Given the description of an element on the screen output the (x, y) to click on. 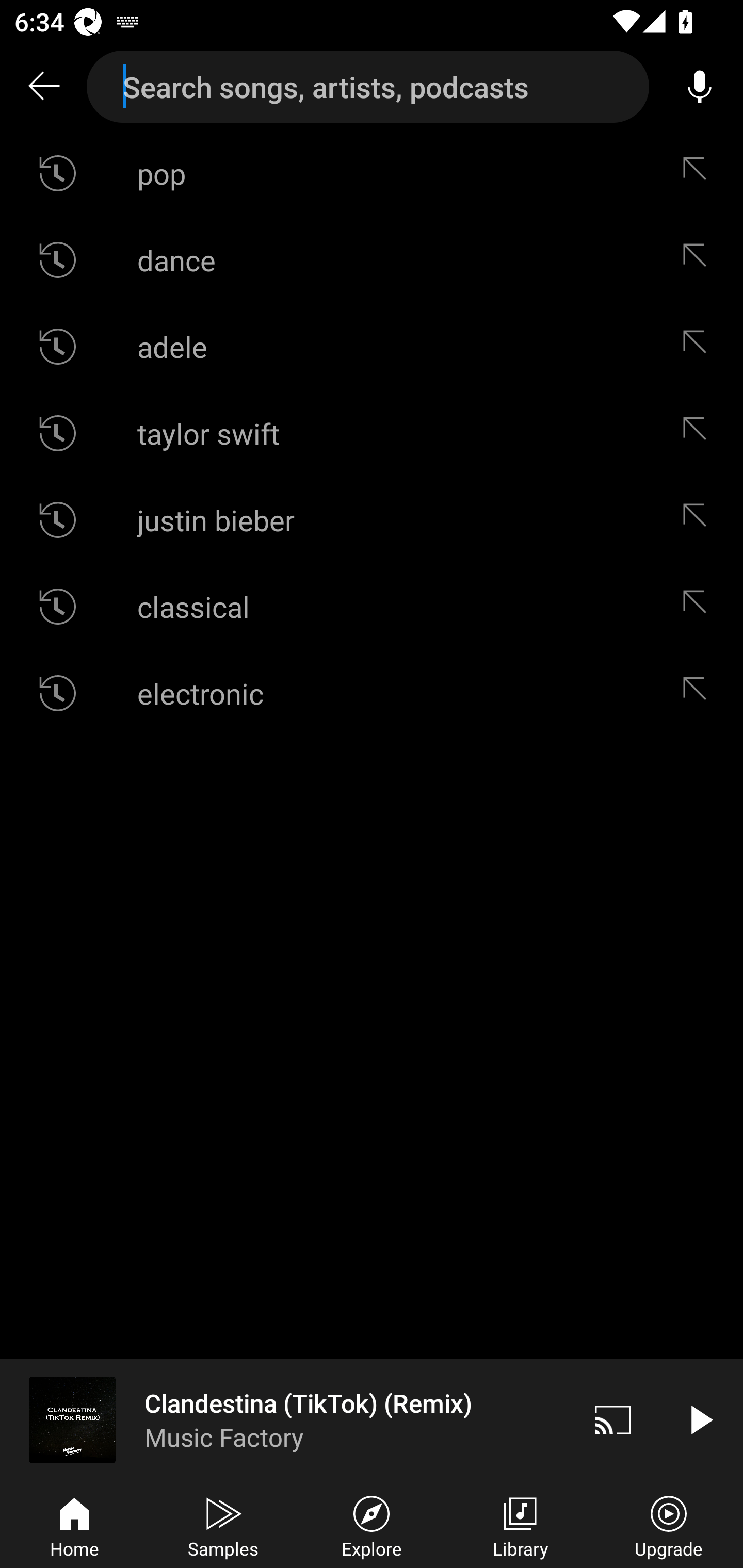
Search back (43, 86)
Search songs, artists, podcasts (367, 86)
Voice search (699, 86)
pop Edit suggestion pop (371, 173)
Edit suggestion pop (699, 173)
dance Edit suggestion dance (371, 259)
Edit suggestion dance (699, 259)
adele Edit suggestion adele (371, 346)
Edit suggestion adele (699, 346)
taylor swift Edit suggestion taylor swift (371, 433)
Edit suggestion taylor swift (699, 433)
justin bieber Edit suggestion justin bieber (371, 519)
Edit suggestion justin bieber (699, 519)
classical Edit suggestion classical (371, 605)
Edit suggestion classical (699, 605)
electronic Edit suggestion electronic (371, 692)
Edit suggestion electronic (699, 692)
Clandestina (TikTok) (Remix) Music Factory (284, 1419)
Cast. Disconnected (612, 1419)
Play video (699, 1419)
Home (74, 1524)
Samples (222, 1524)
Explore (371, 1524)
Library (519, 1524)
Upgrade (668, 1524)
